Given the description of an element on the screen output the (x, y) to click on. 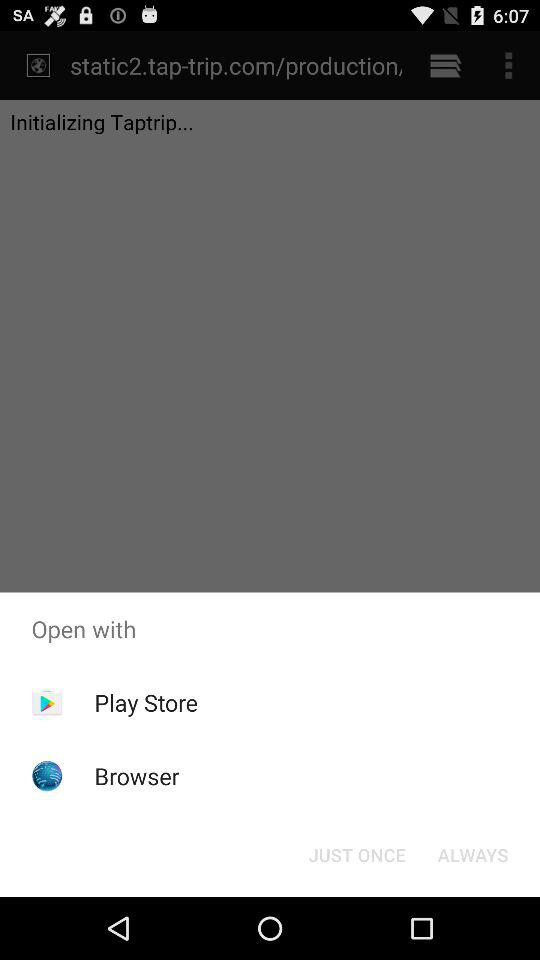
press item above browser (146, 702)
